Given the description of an element on the screen output the (x, y) to click on. 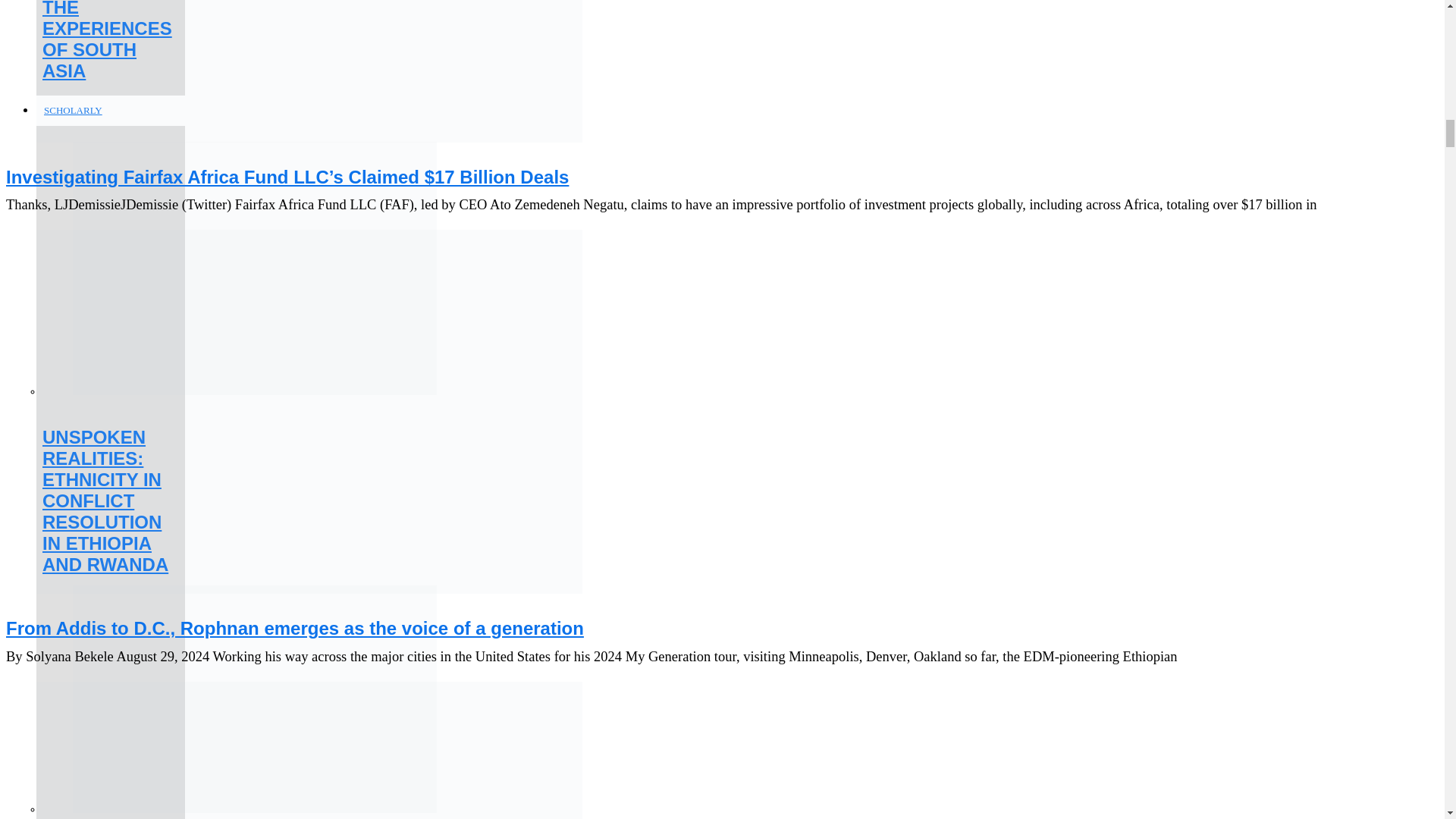
SCHOLARLY (74, 110)
Scholarly Articles (74, 110)
